Given the description of an element on the screen output the (x, y) to click on. 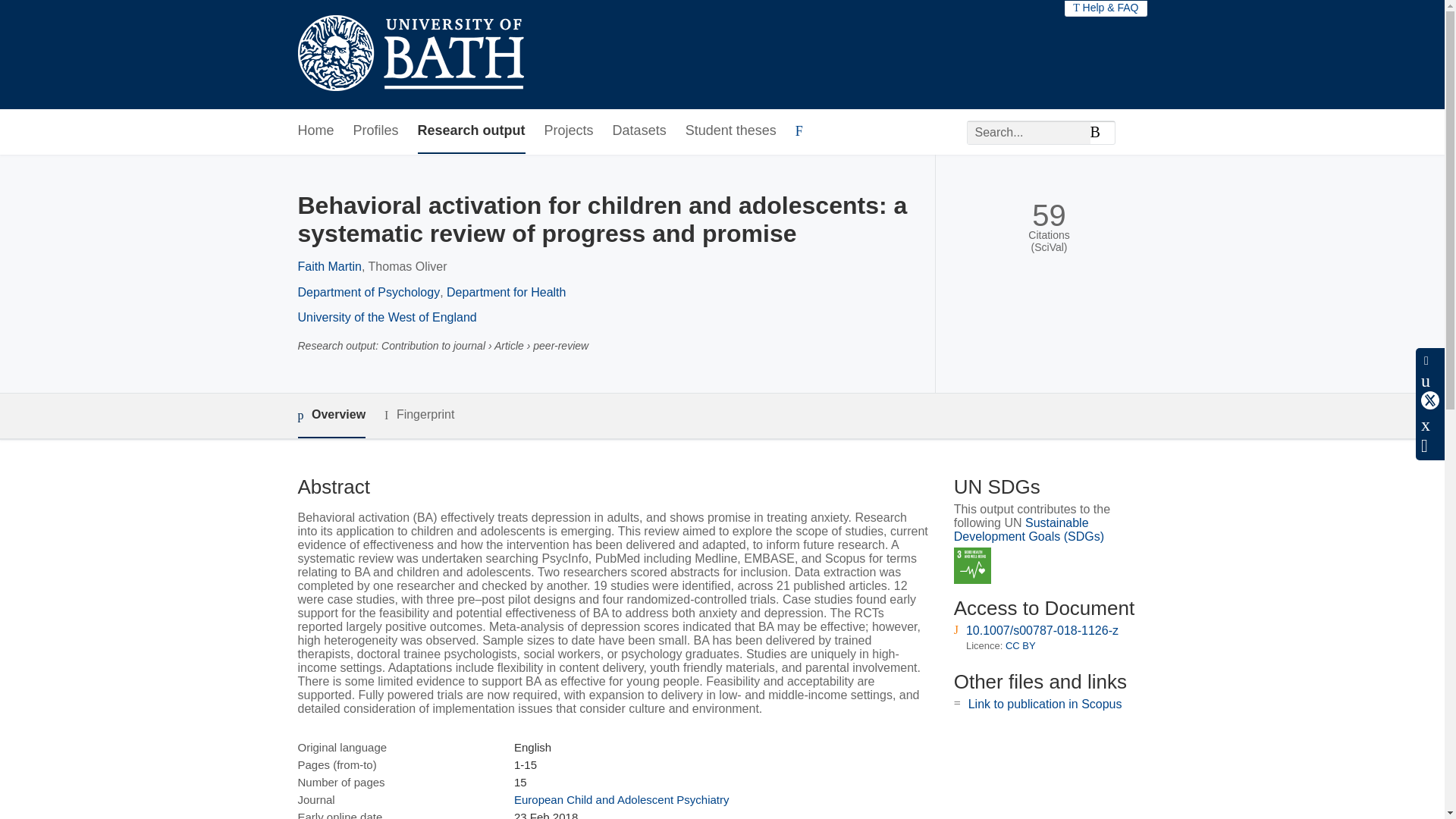
Overview (331, 415)
Profiles (375, 130)
the University of Bath's research portal Home (409, 54)
Department for Health (506, 291)
SDG 3 - Good Health and Well-being (972, 565)
Faith Martin (329, 266)
University of the West of England (386, 317)
CC BY (1020, 645)
Datasets (639, 130)
Projects (569, 130)
Research output (471, 130)
Link to publication in Scopus (1045, 703)
Fingerprint (419, 414)
Department of Psychology (368, 291)
